Given the description of an element on the screen output the (x, y) to click on. 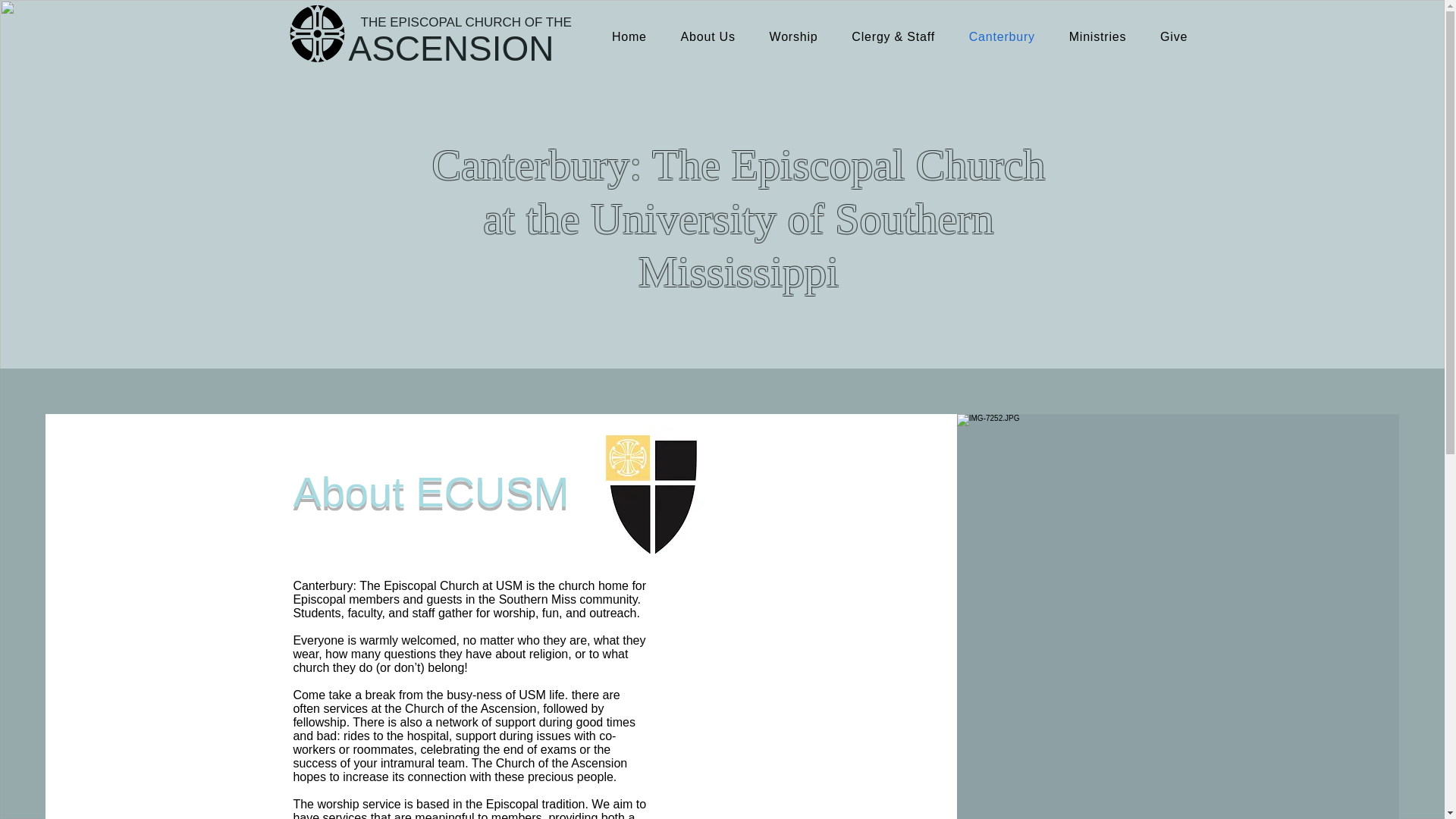
Give (1174, 36)
Home (628, 36)
Worship (793, 36)
Canterbury (1001, 36)
Ministries (1097, 36)
